Given the description of an element on the screen output the (x, y) to click on. 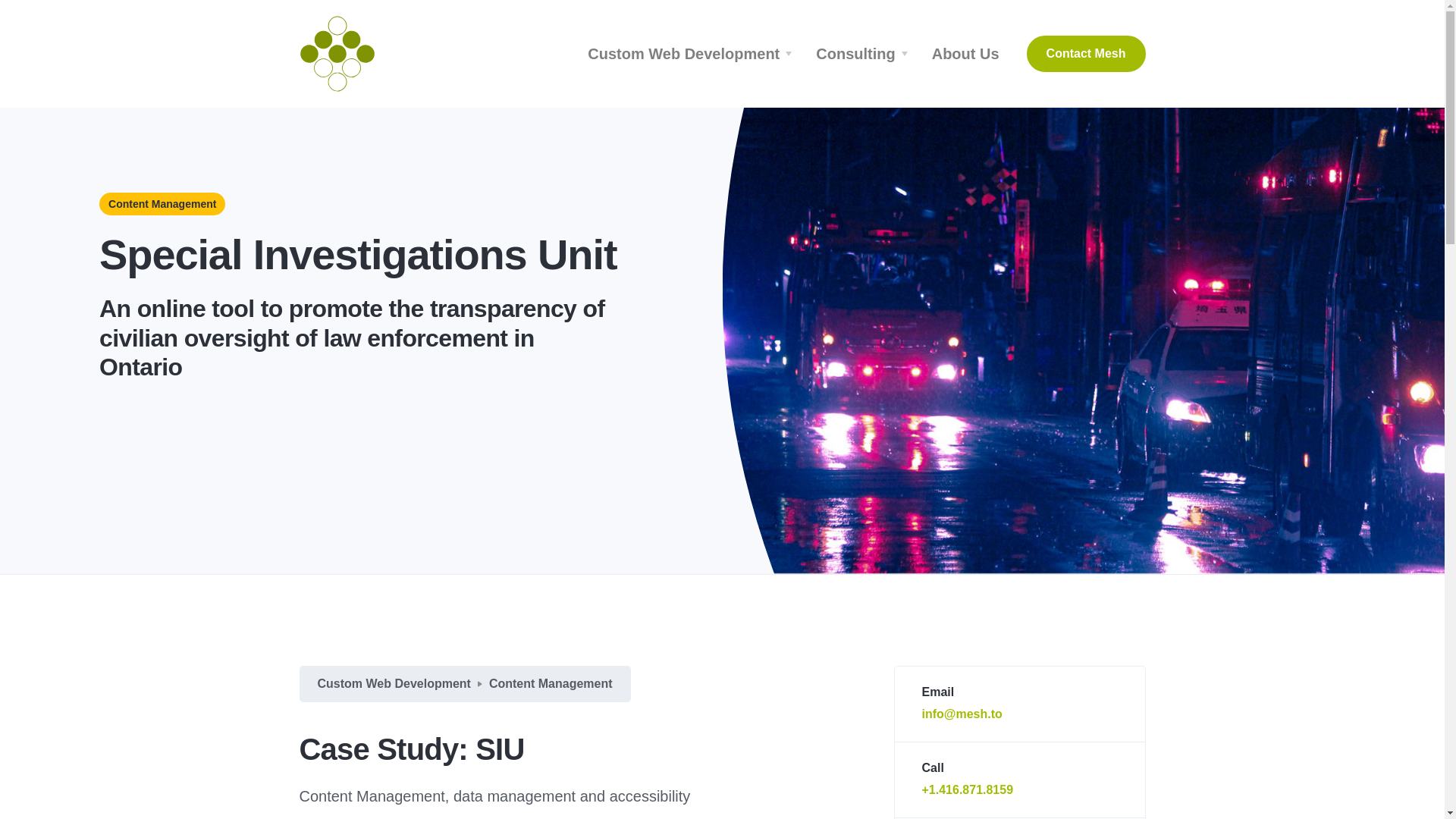
Consulting (863, 53)
About Us (966, 53)
Custom Web Development (692, 53)
Contact Mesh (1085, 54)
